Given the description of an element on the screen output the (x, y) to click on. 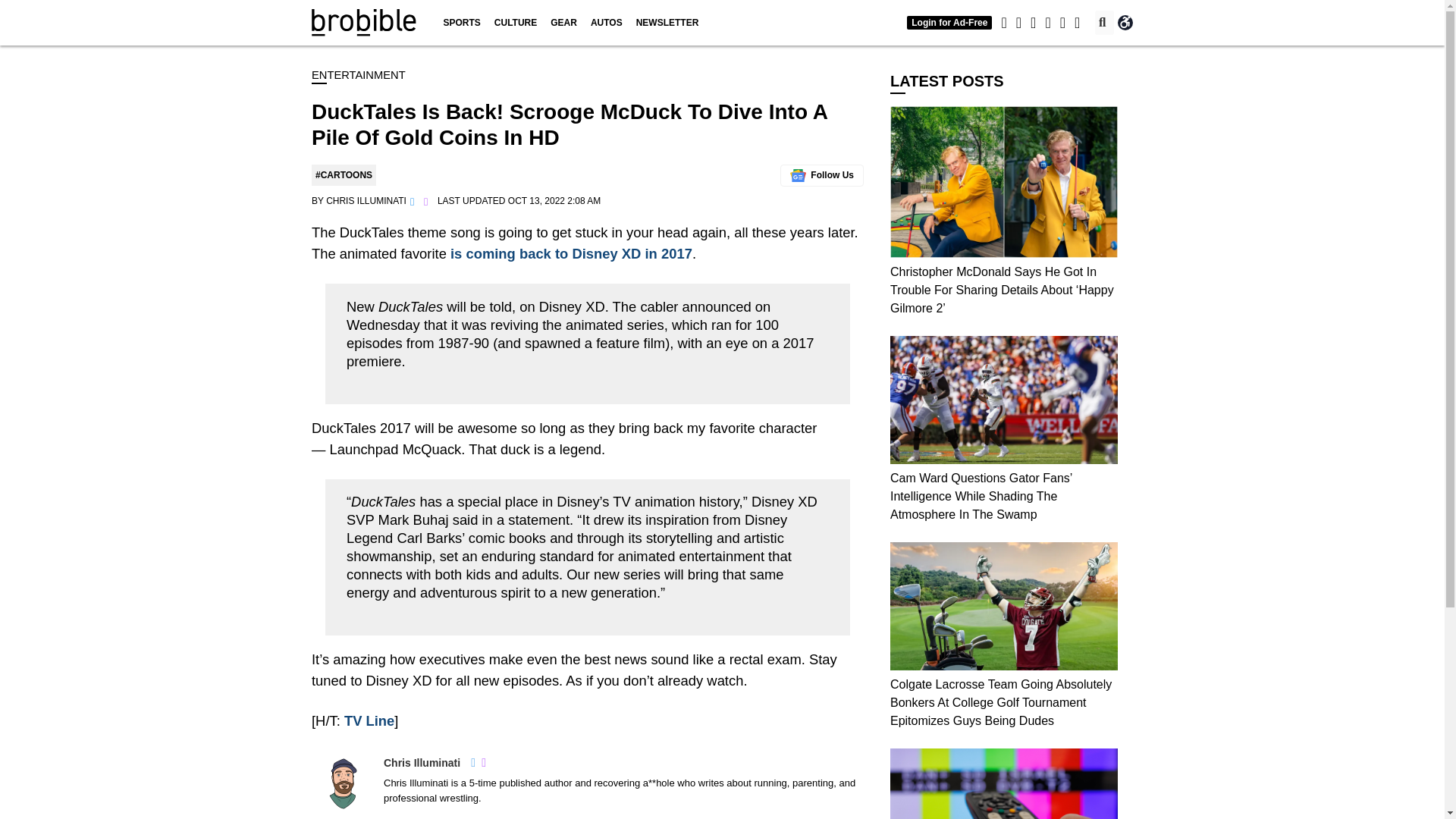
Follow us on Google News (821, 175)
Posts by Chris Illuminati (366, 200)
Login for Ad-Free (949, 22)
CULTURE (515, 22)
SPORTS (460, 22)
Posts by Chris Illuminati (422, 762)
Accessibility (1125, 22)
